Given the description of an element on the screen output the (x, y) to click on. 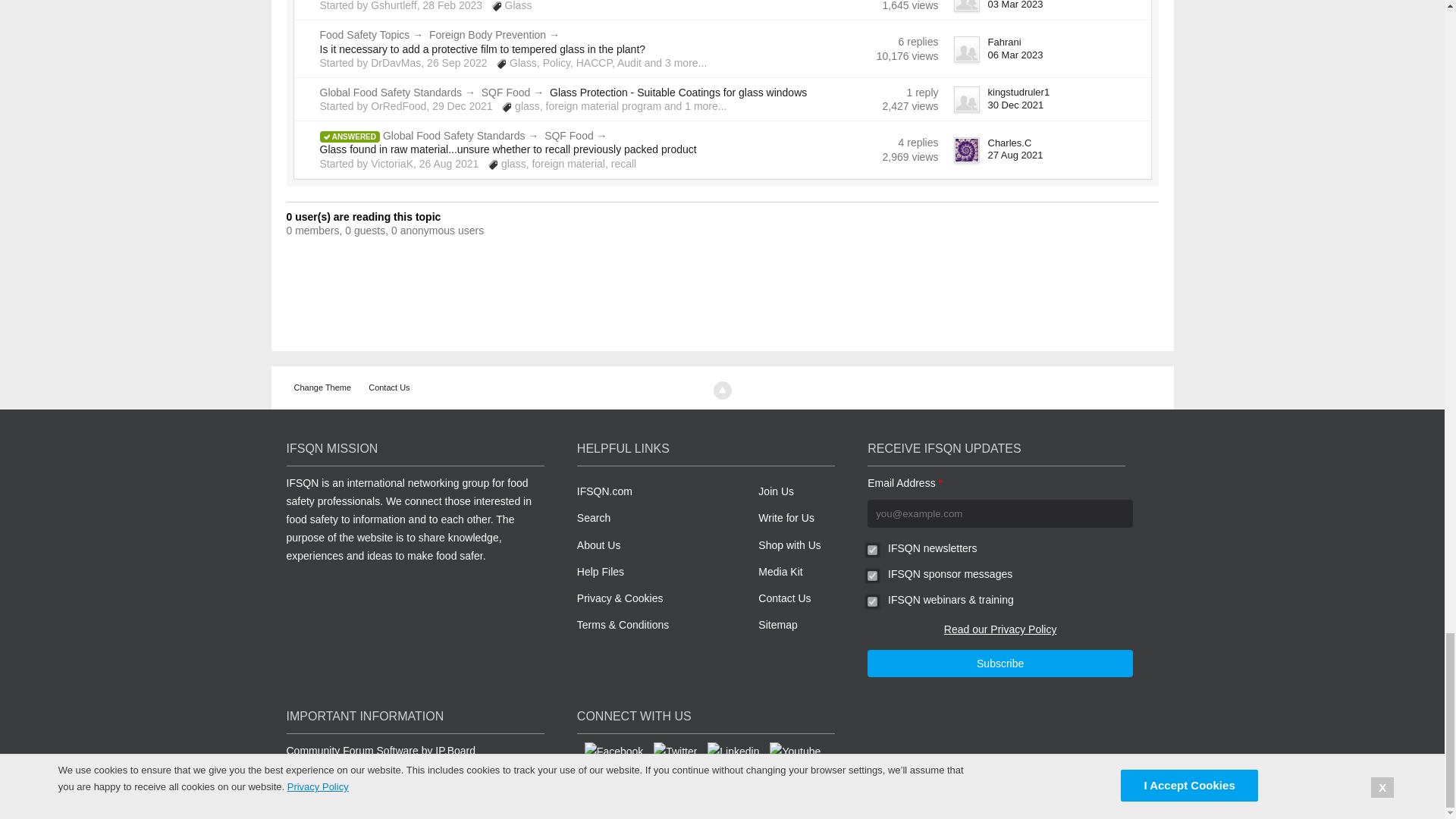
5573142 (872, 601)
5573141 (872, 550)
Subscribe (999, 663)
5573143 (872, 575)
